Given the description of an element on the screen output the (x, y) to click on. 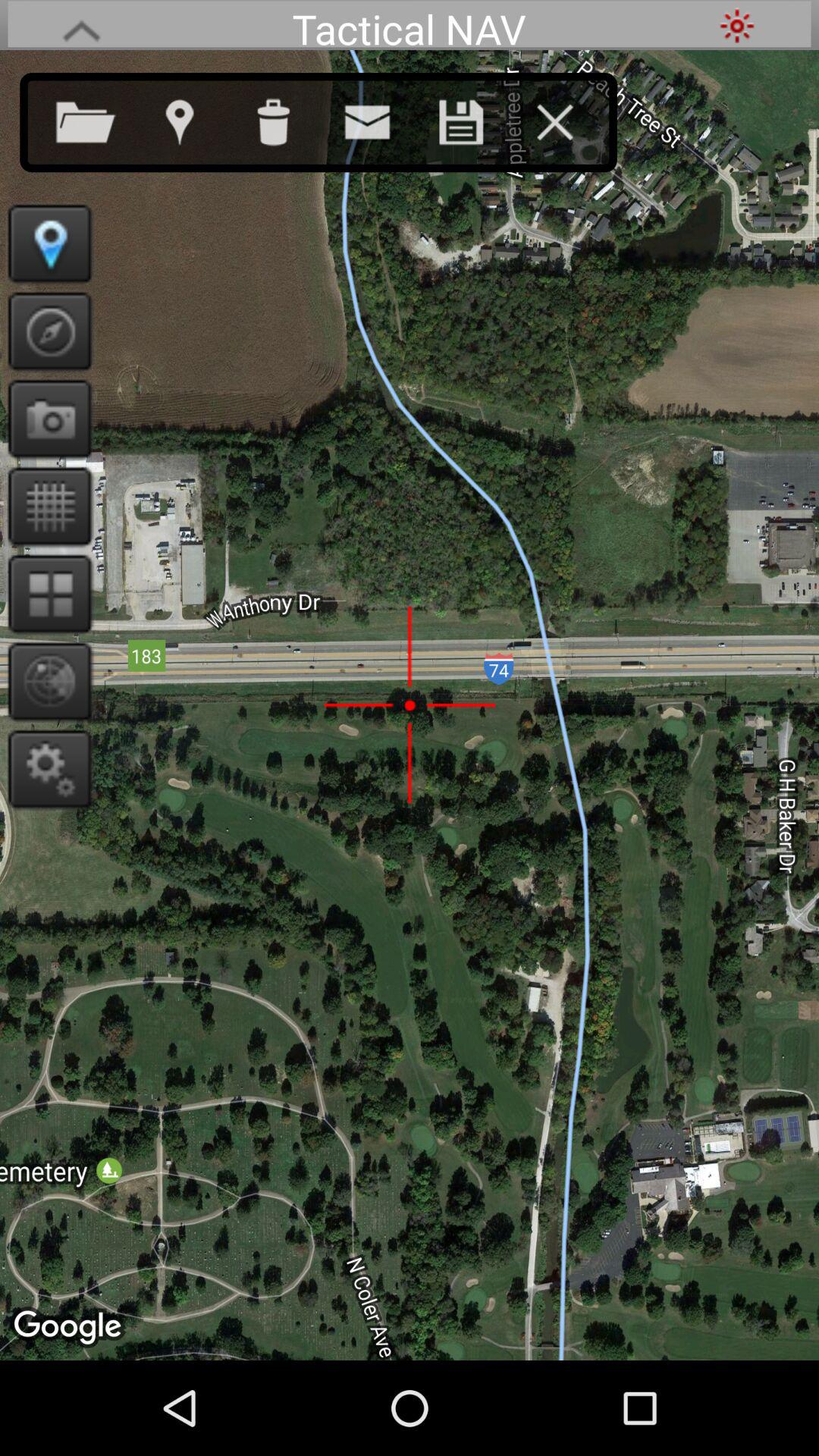
compass (45, 330)
